Given the description of an element on the screen output the (x, y) to click on. 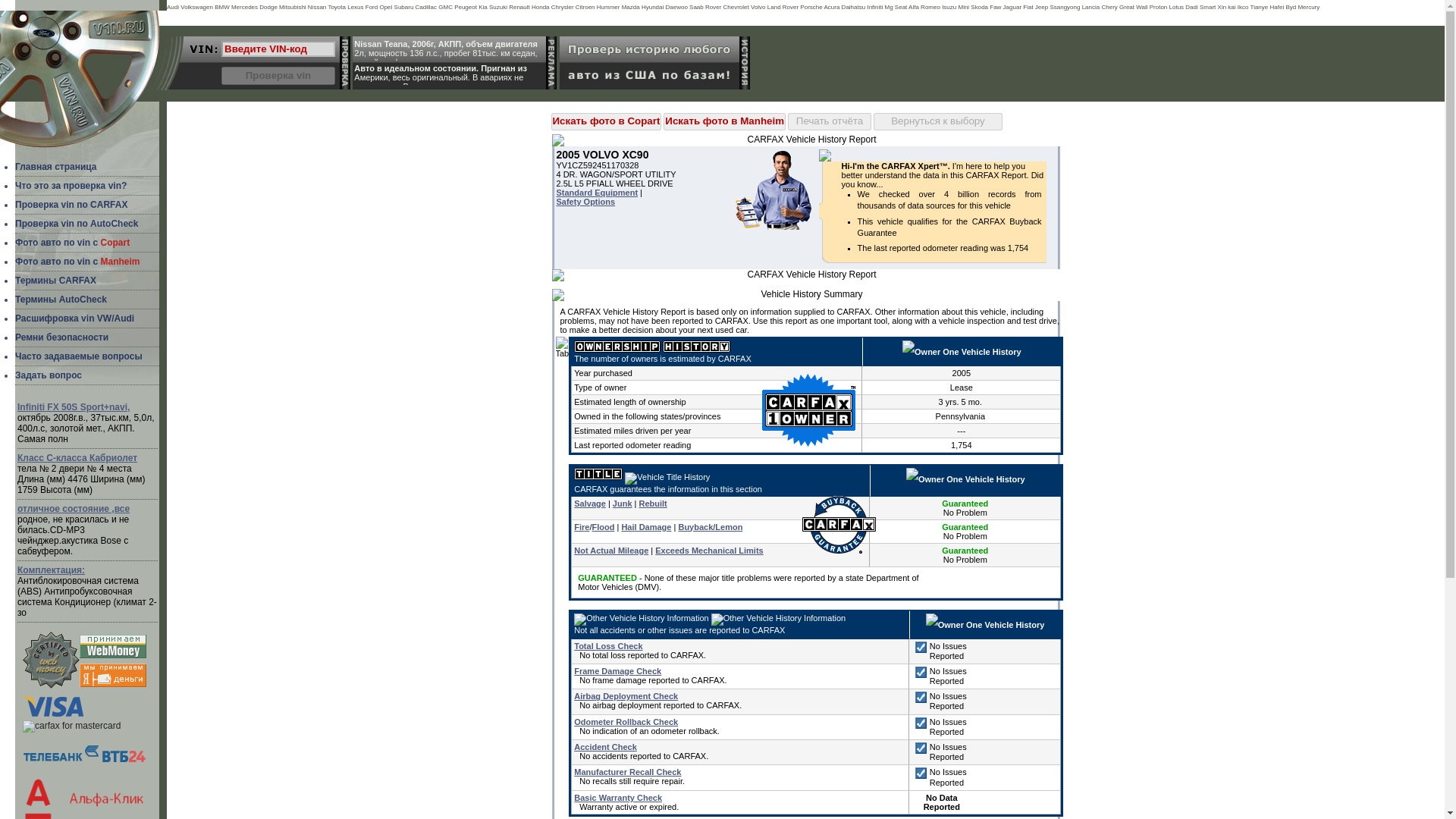
Exceeds Mechanical Limits (708, 550)
Flood (602, 525)
Fire (581, 525)
Not Actual Mileage (610, 550)
Total Loss Check (607, 645)
Salvage (589, 502)
Hail Damage (646, 525)
Standard Equipment (597, 192)
Safety Options (585, 201)
Rebuilt (652, 502)
Junk (621, 502)
